Given the description of an element on the screen output the (x, y) to click on. 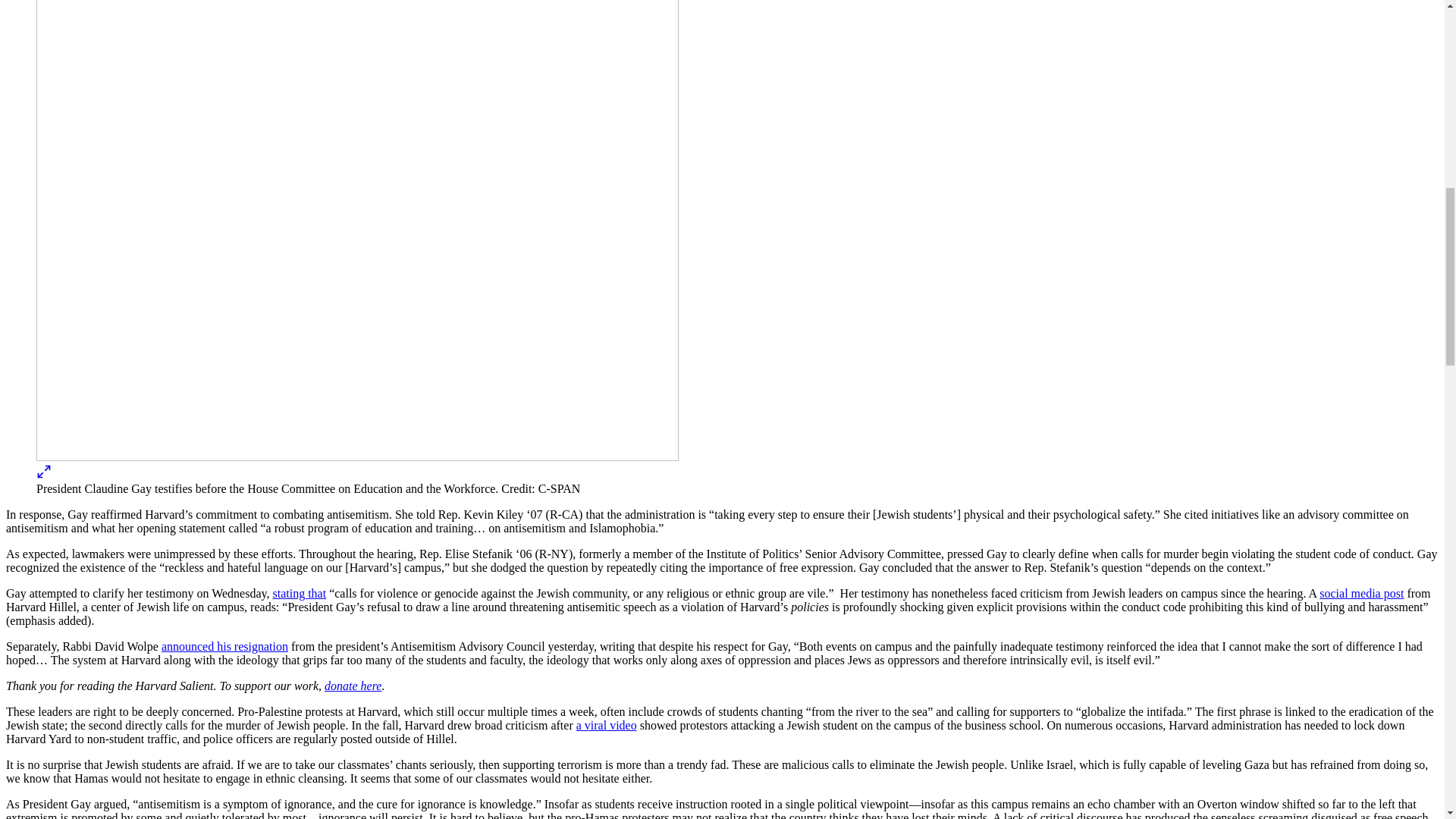
a viral video (606, 725)
announced his resignation (224, 645)
stating that (299, 593)
social media post (1361, 593)
donate here (352, 685)
